Given the description of an element on the screen output the (x, y) to click on. 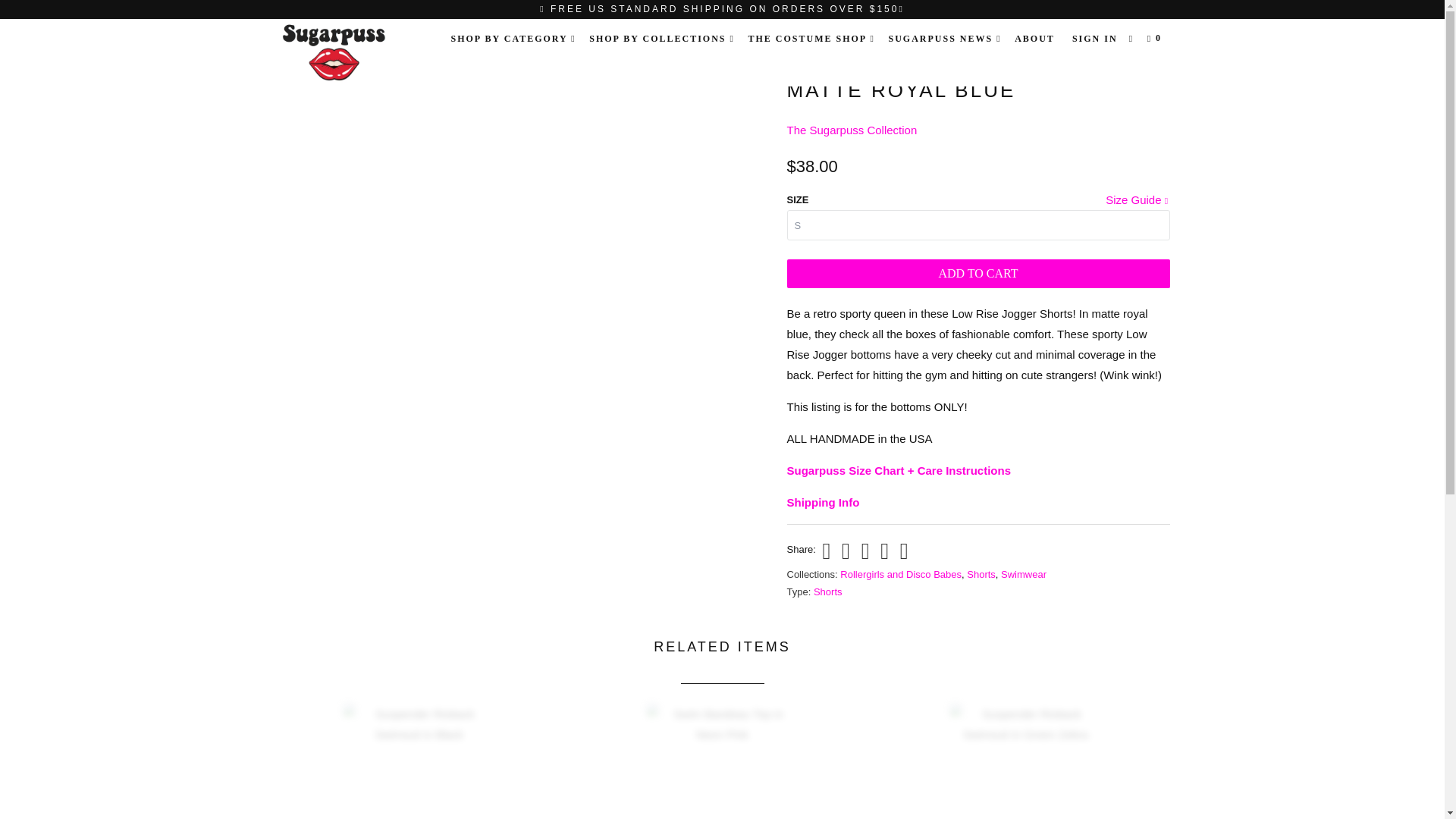
Rollergirls and Disco Babes (900, 573)
The Sugarpuss Collection (852, 129)
The Sugarpuss Collection (352, 52)
Shorts (980, 573)
My Account  (1094, 38)
